Given the description of an element on the screen output the (x, y) to click on. 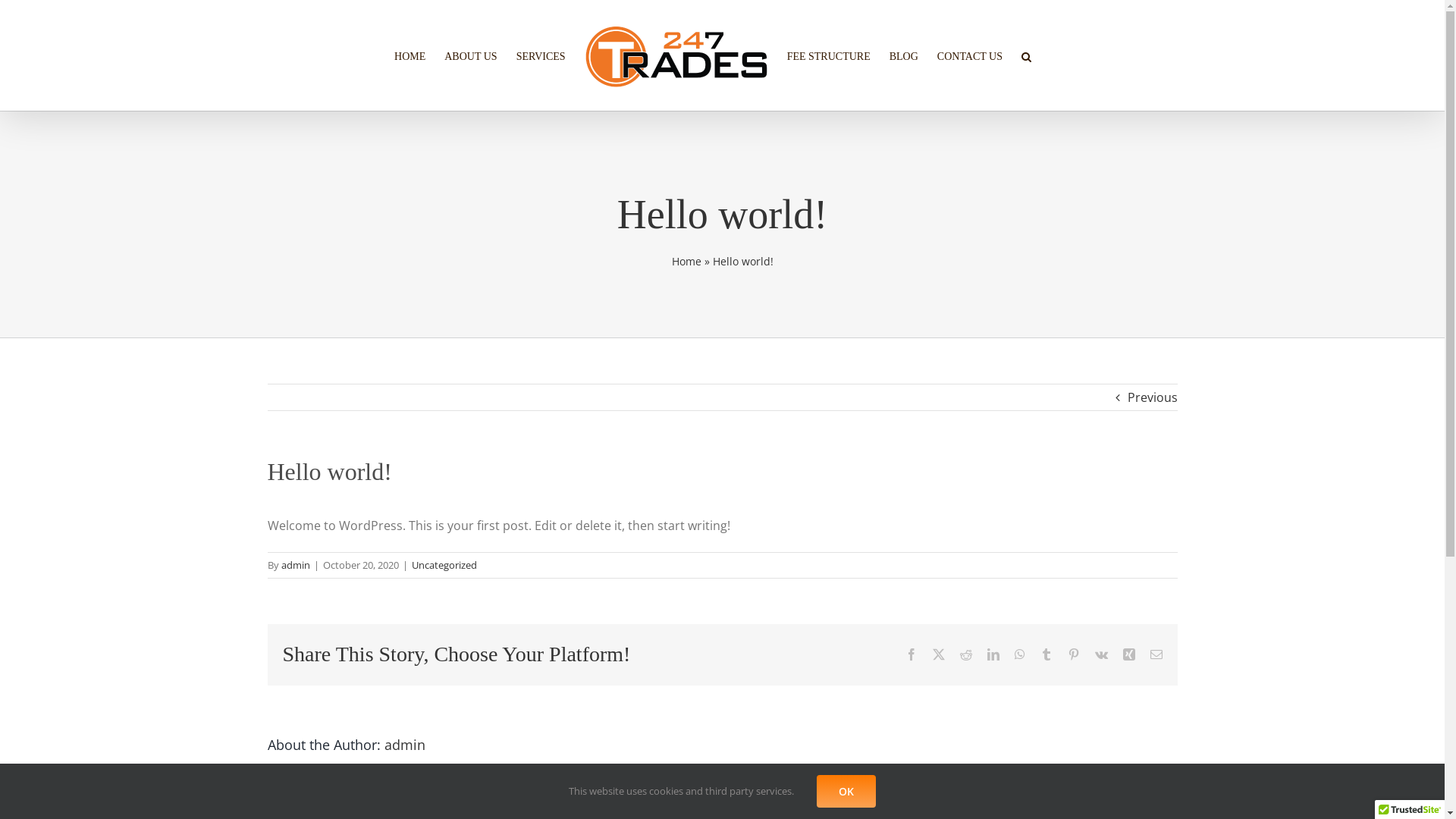
Previous Element type: text (1151, 397)
admin Element type: text (294, 564)
FEE STRUCTURE Element type: text (828, 55)
admin Element type: text (403, 744)
Pinterest Element type: text (1073, 654)
Reddit Element type: text (966, 654)
Facebook Element type: text (911, 654)
ABOUT US Element type: text (470, 55)
LinkedIn Element type: text (993, 654)
Tumblr Element type: text (1046, 654)
OK Element type: text (845, 791)
Xing Element type: text (1128, 654)
CONTACT US Element type: text (969, 55)
Home Element type: text (686, 261)
HOME Element type: text (409, 55)
Email Element type: text (1155, 654)
WhatsApp Element type: text (1019, 654)
Vk Element type: text (1101, 654)
Uncategorized Element type: text (443, 564)
Twitter Element type: text (938, 654)
BLOG Element type: text (903, 55)
Search Element type: hover (1026, 55)
SERVICES Element type: text (540, 55)
